Given the description of an element on the screen output the (x, y) to click on. 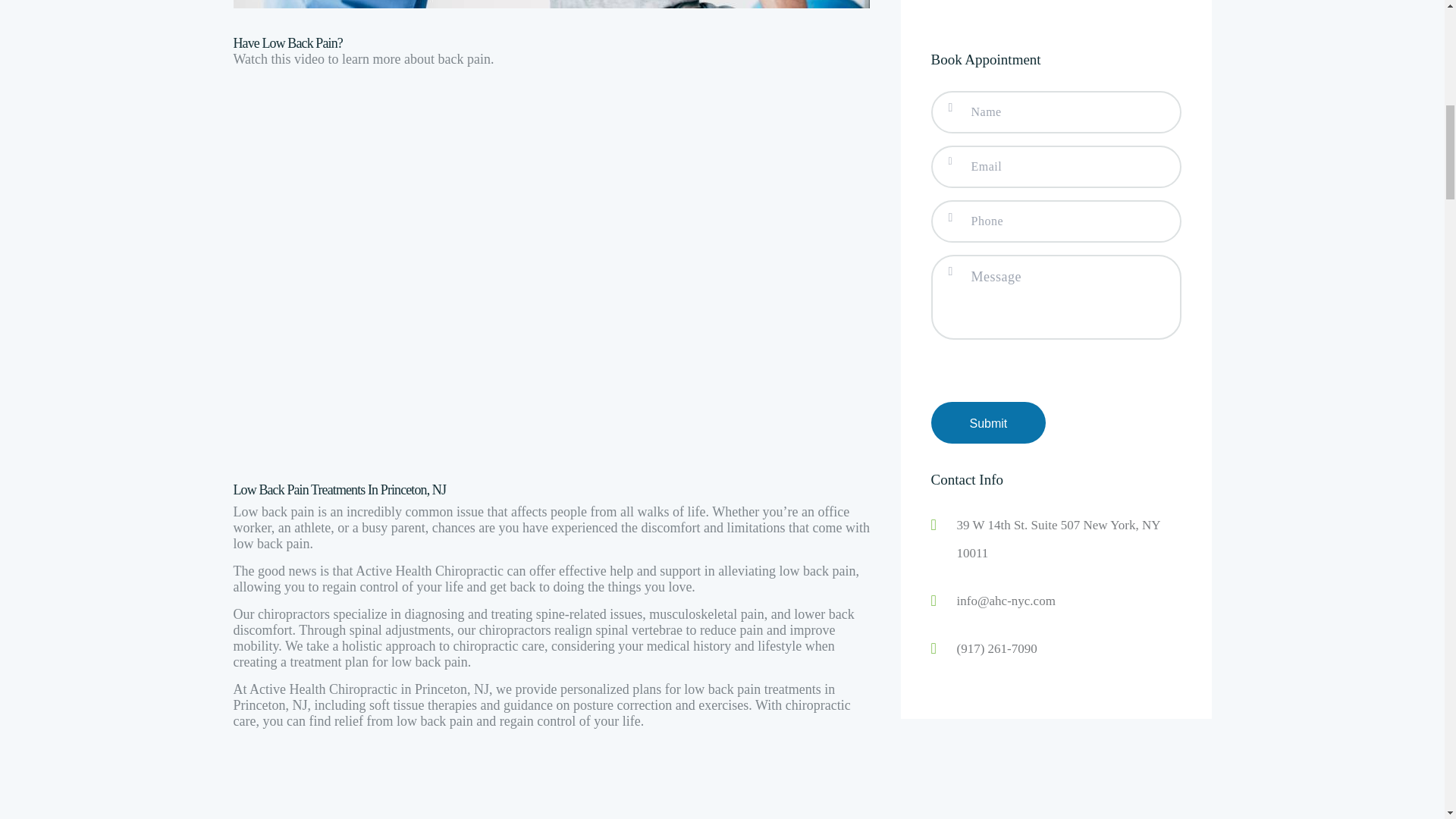
Submit (988, 13)
